Given the description of an element on the screen output the (x, y) to click on. 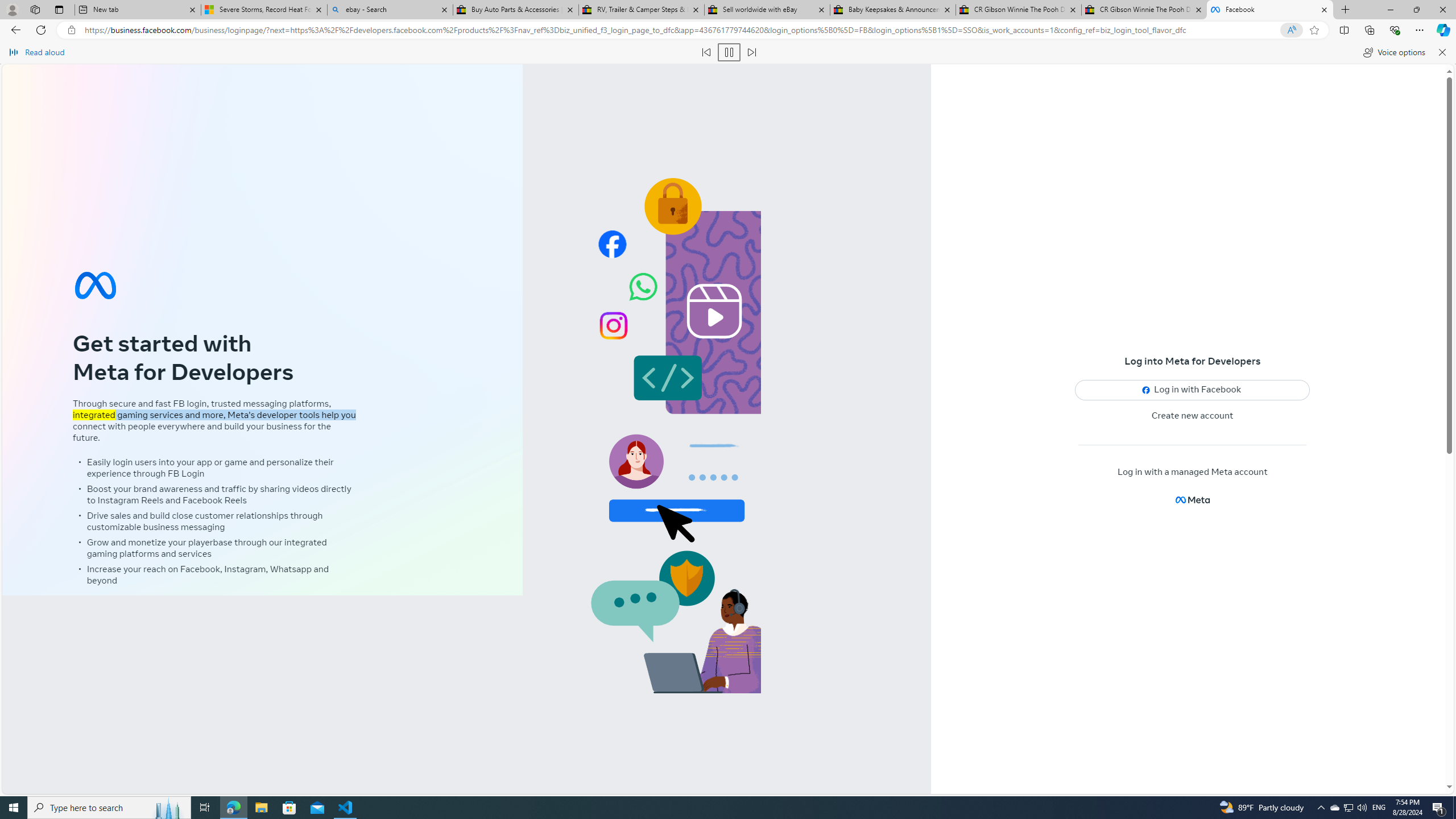
Voice options (1393, 52)
Read previous paragraph (705, 52)
Pause read aloud (Ctrl+Shift+U) (729, 52)
